Given the description of an element on the screen output the (x, y) to click on. 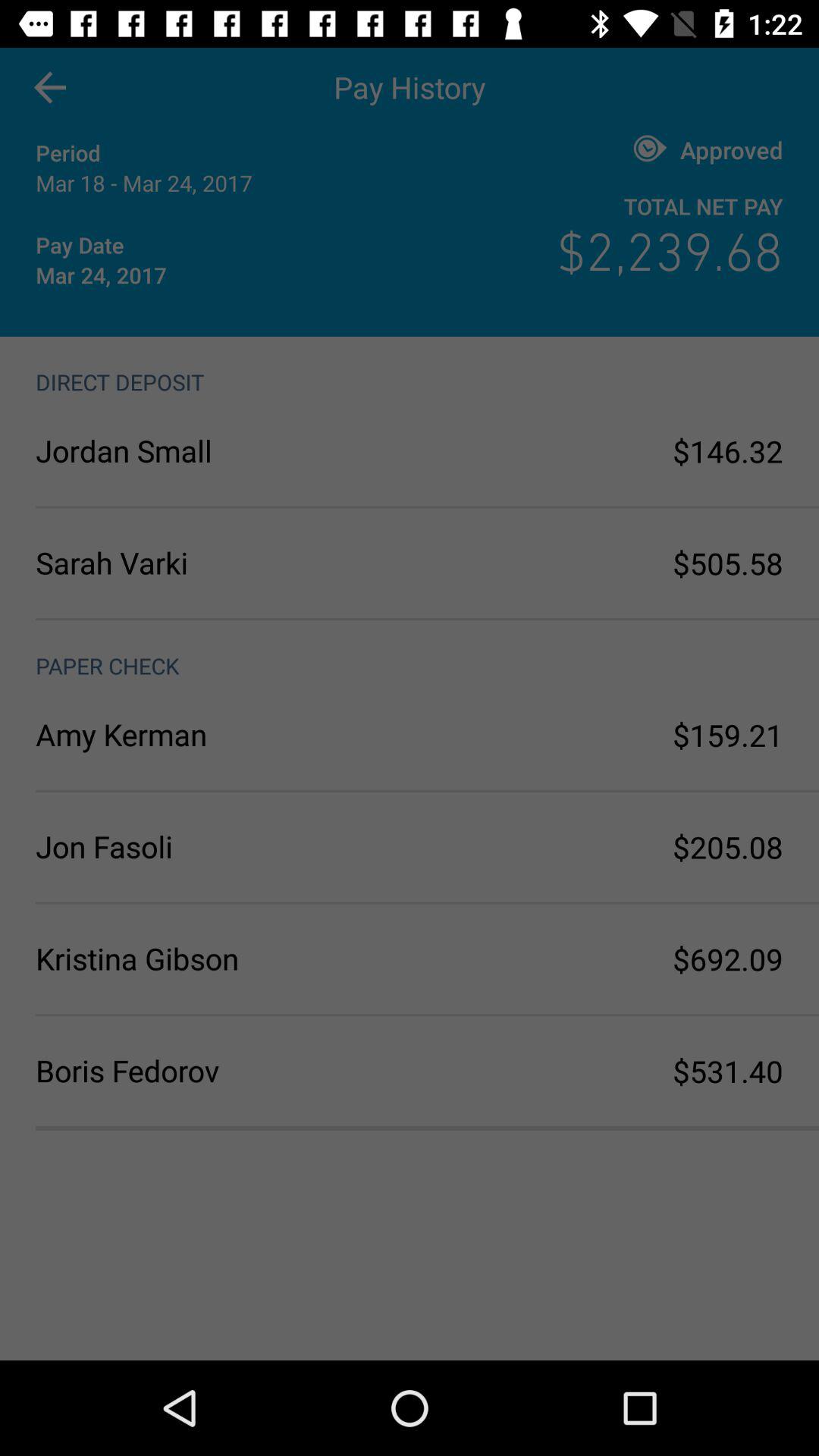
press the app above boris fedorov (222, 958)
